Given the description of an element on the screen output the (x, y) to click on. 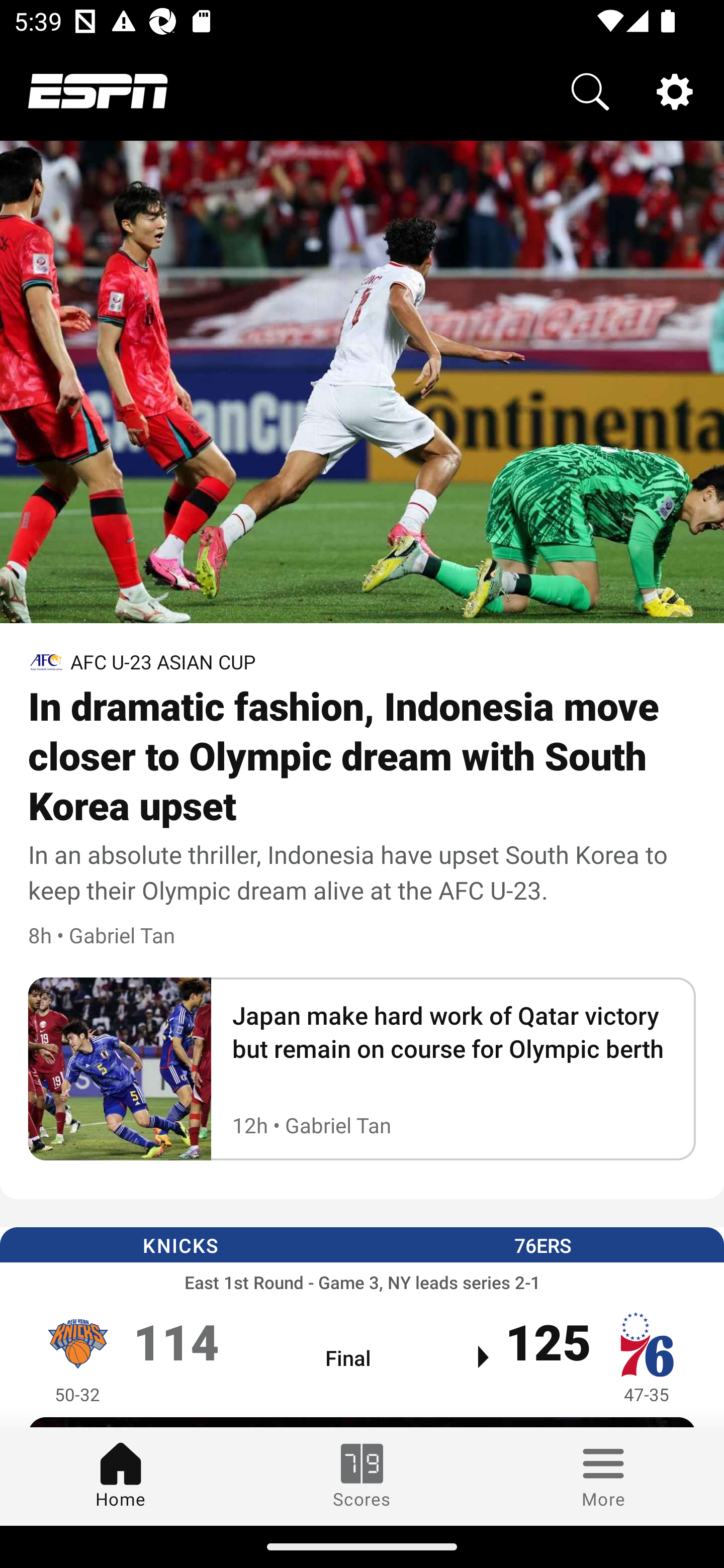
Search (590, 90)
Settings (674, 90)
Scores (361, 1475)
More (603, 1475)
